Given the description of an element on the screen output the (x, y) to click on. 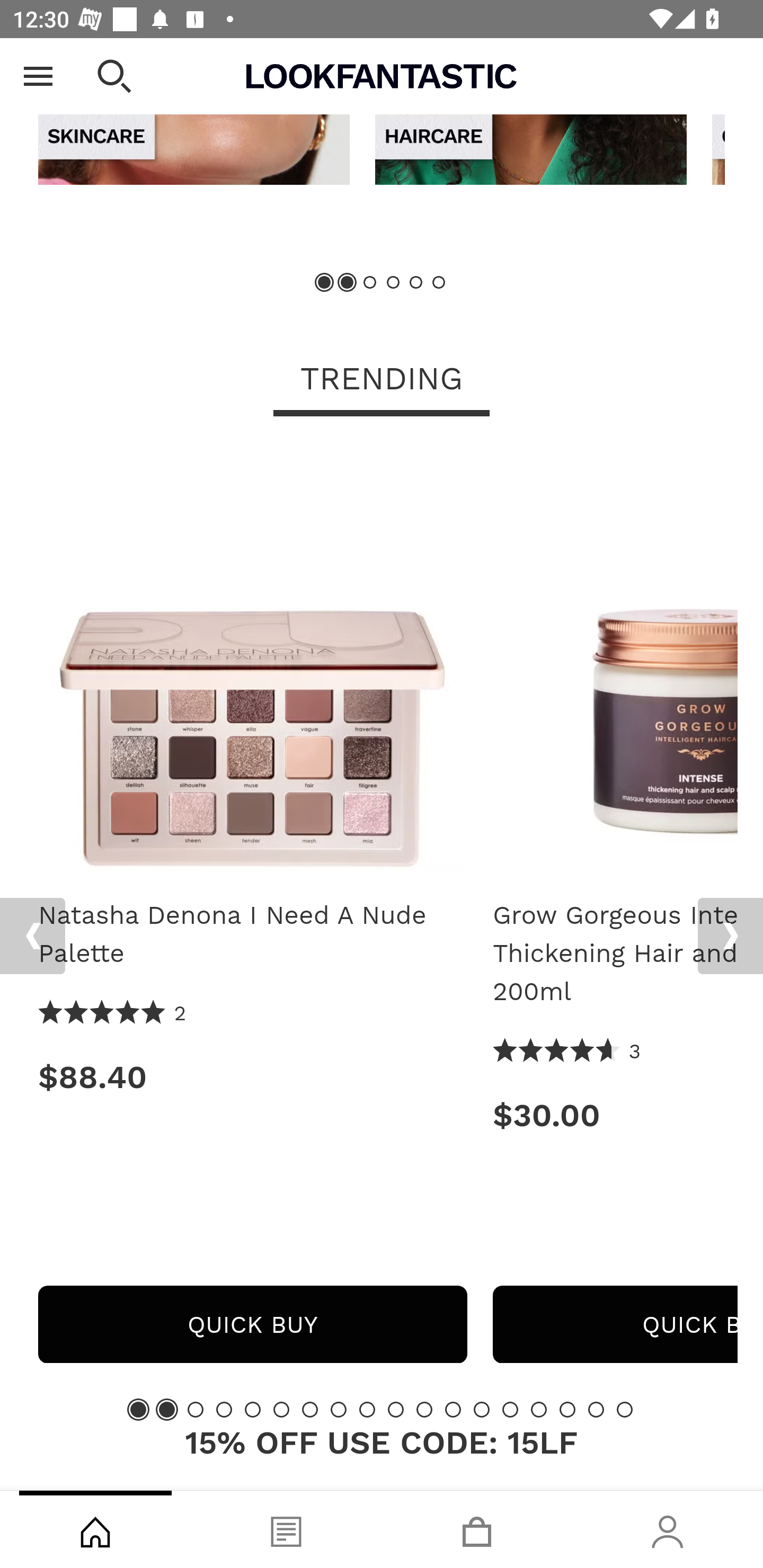
Previous (35, 64)
Showing Slide 1 (Current Item) (324, 282)
Showing Slide 2 (Current Item) (347, 282)
Slide 3 (369, 282)
Slide 4 (393, 282)
Slide 5 (415, 282)
Slide 6 (437, 282)
TRENDING (381, 381)
Natasha Denona I Need A Nude Palette (252, 663)
Natasha Denona I Need A Nude Palette (252, 935)
Previous (32, 936)
Next (730, 936)
5.0 Stars 2 Reviews (112, 1014)
4.67 Stars 3 Reviews (567, 1052)
Price: $88.40 (252, 1077)
Price: $30.00 (614, 1115)
QUICK BUY NATASHA DENONA I NEED A NUDE PALETTE (252, 1325)
Showing Slide 1 (Current Item) (138, 1410)
Showing Slide 2 (Current Item) (166, 1410)
Slide 3 (195, 1410)
Slide 4 (223, 1410)
Slide 5 (252, 1410)
Slide 6 (281, 1410)
Slide 7 (310, 1410)
Slide 8 (338, 1410)
Slide 9 (367, 1410)
Slide 10 (395, 1410)
Slide 11 (424, 1410)
Slide 12 (452, 1410)
Slide 13 (481, 1410)
Slide 14 (510, 1410)
Slide 15 (539, 1410)
Slide 16 (567, 1410)
Slide 17 (596, 1410)
Slide 18 (624, 1410)
Shop, tab, 1 of 4 (95, 1529)
Blog, tab, 2 of 4 (285, 1529)
Basket, tab, 3 of 4 (476, 1529)
Account, tab, 4 of 4 (667, 1529)
